Given the description of an element on the screen output the (x, y) to click on. 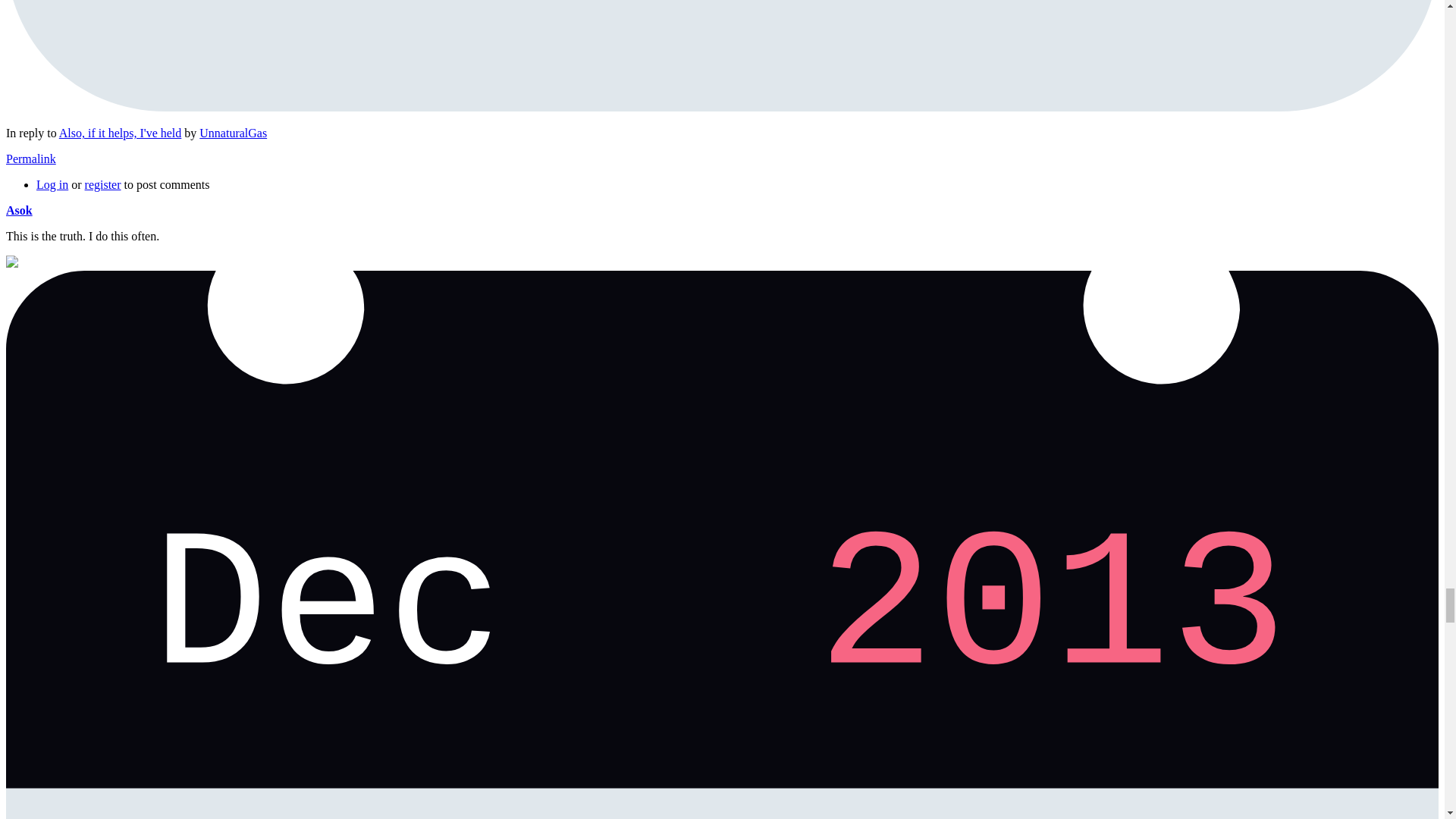
View user profile. (18, 210)
View user profile. (232, 132)
